Given the description of an element on the screen output the (x, y) to click on. 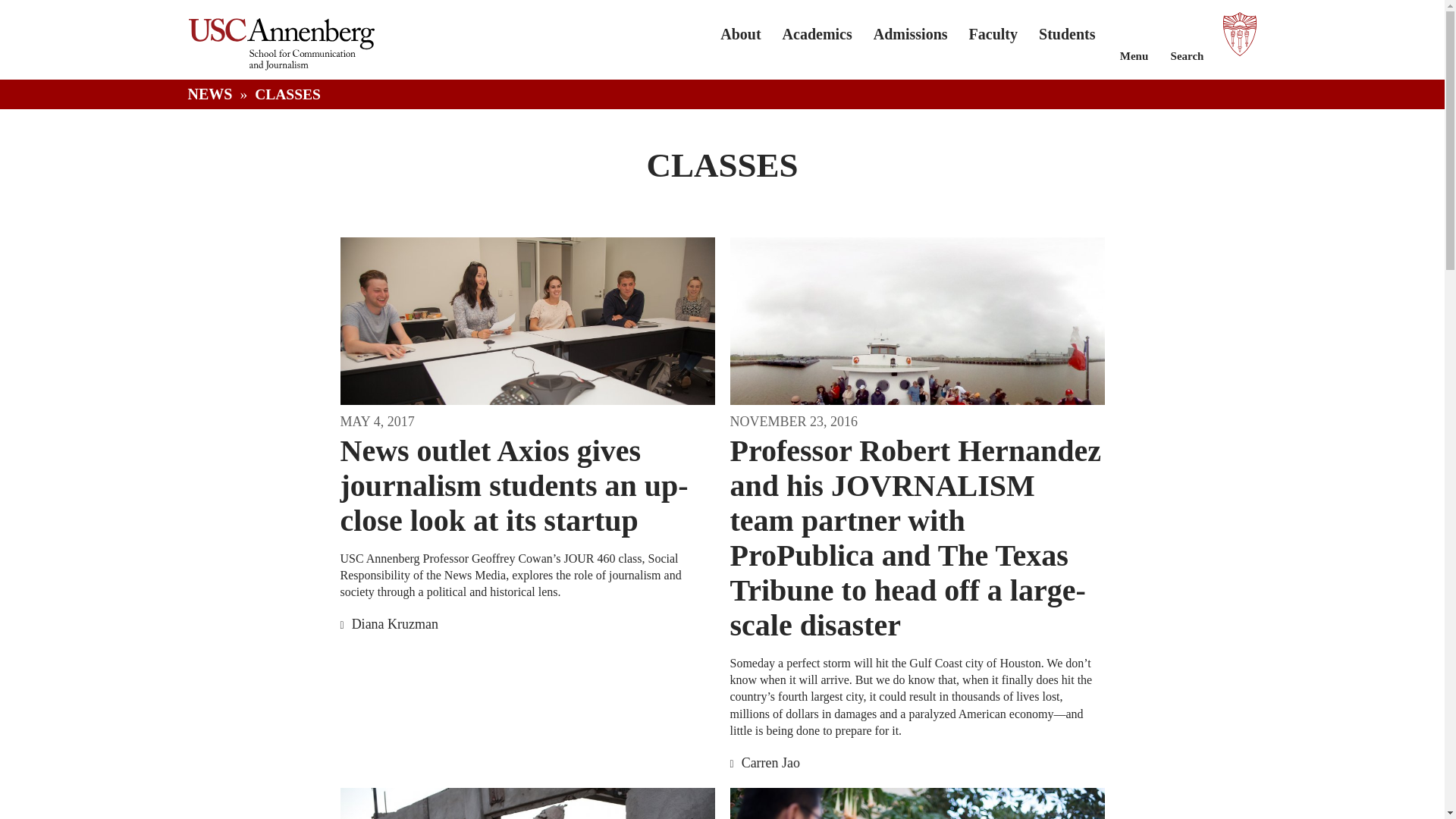
Students (1066, 33)
About (740, 33)
Faculty (993, 33)
Academics (817, 33)
Admissions (910, 33)
USC Annenberg Home (280, 65)
